Given the description of an element on the screen output the (x, y) to click on. 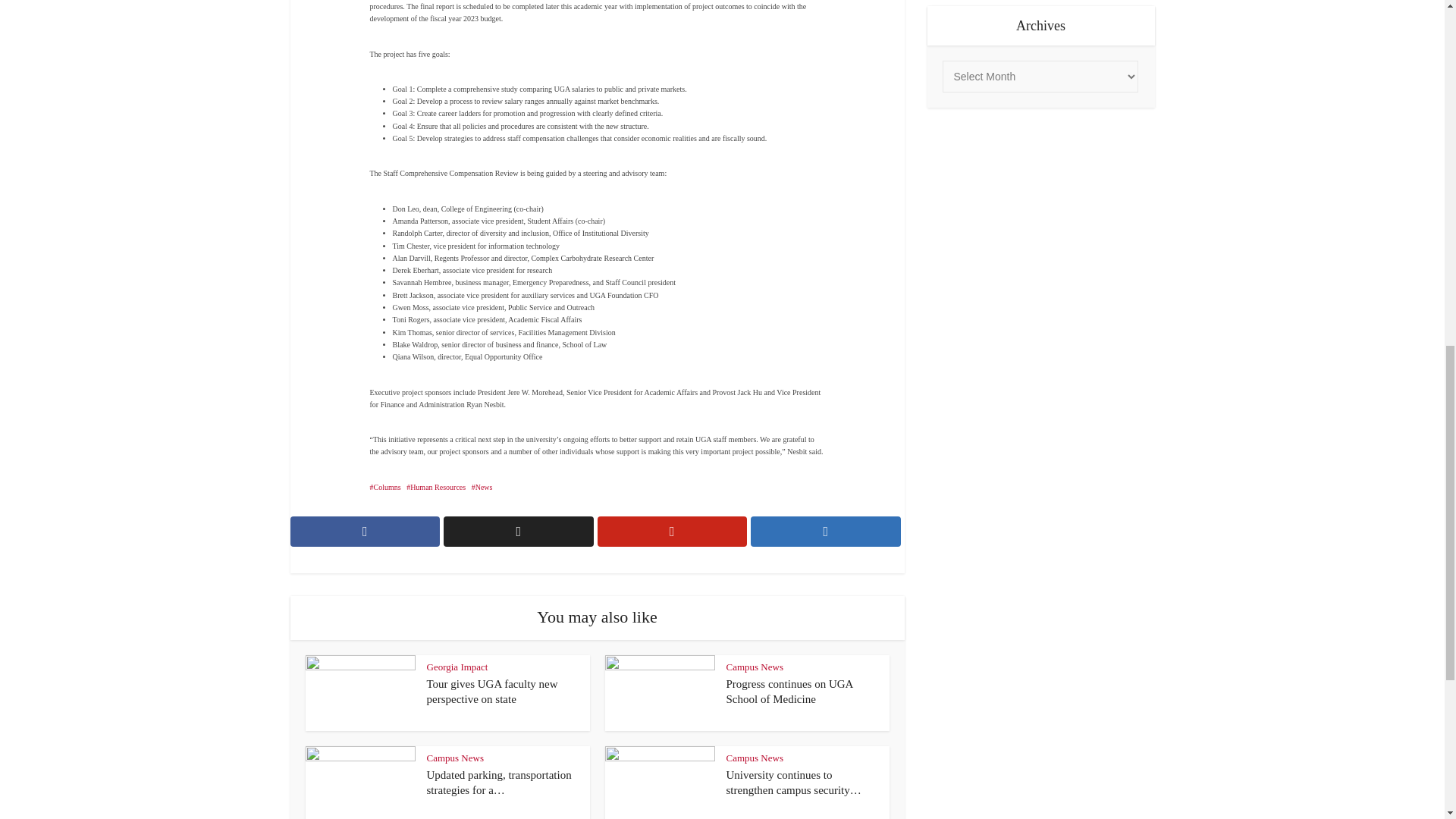
Tour gives UGA faculty new perspective on state (491, 691)
Georgia Impact (456, 666)
Human Resources (435, 487)
Campus News (454, 757)
Progress continues on UGA School of Medicine (789, 691)
Progress continues on UGA School of Medicine (789, 691)
Campus News (754, 666)
Campus News (754, 757)
News (482, 487)
